Given the description of an element on the screen output the (x, y) to click on. 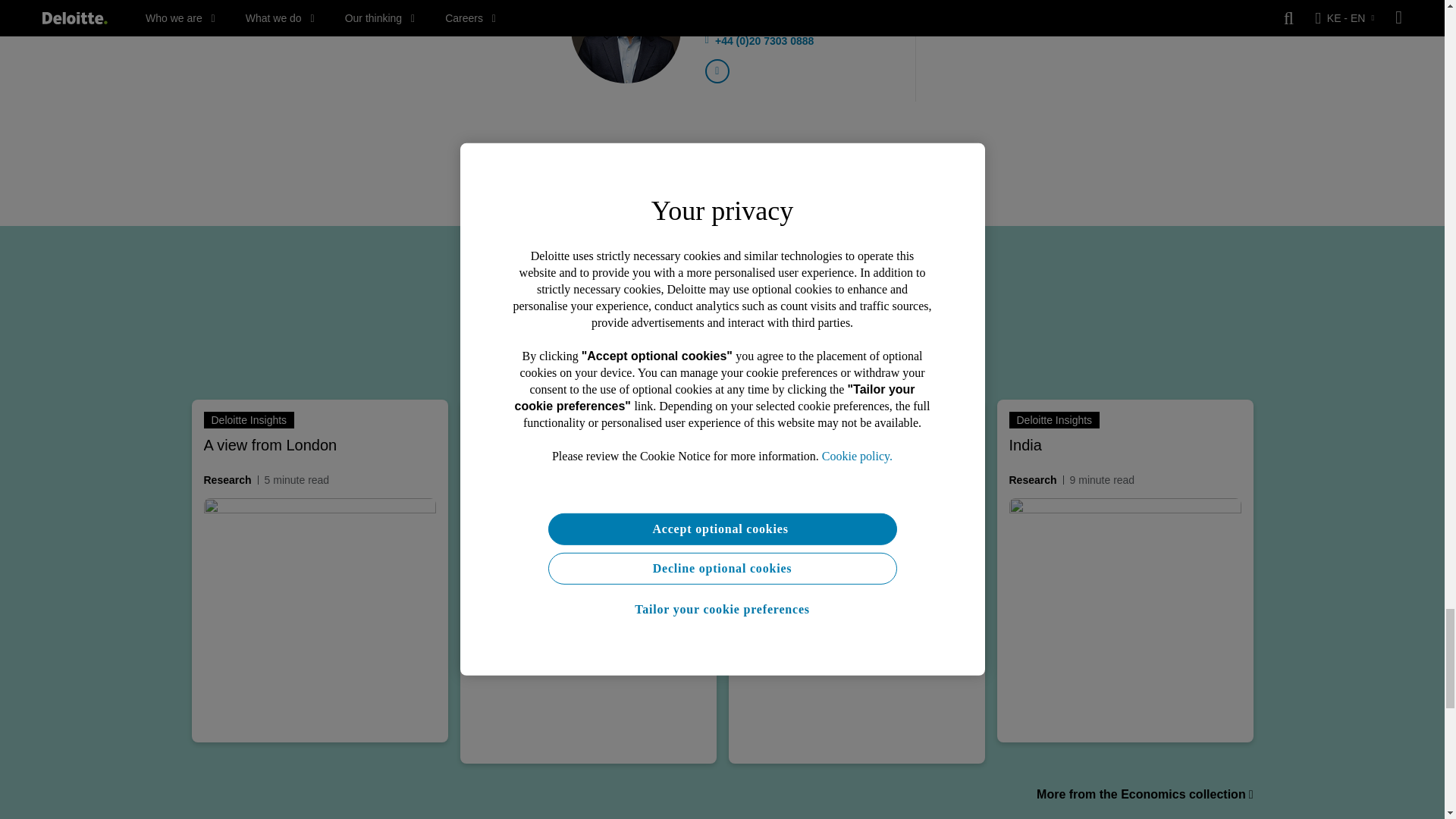
connect via linkedin (716, 70)
